Given the description of an element on the screen output the (x, y) to click on. 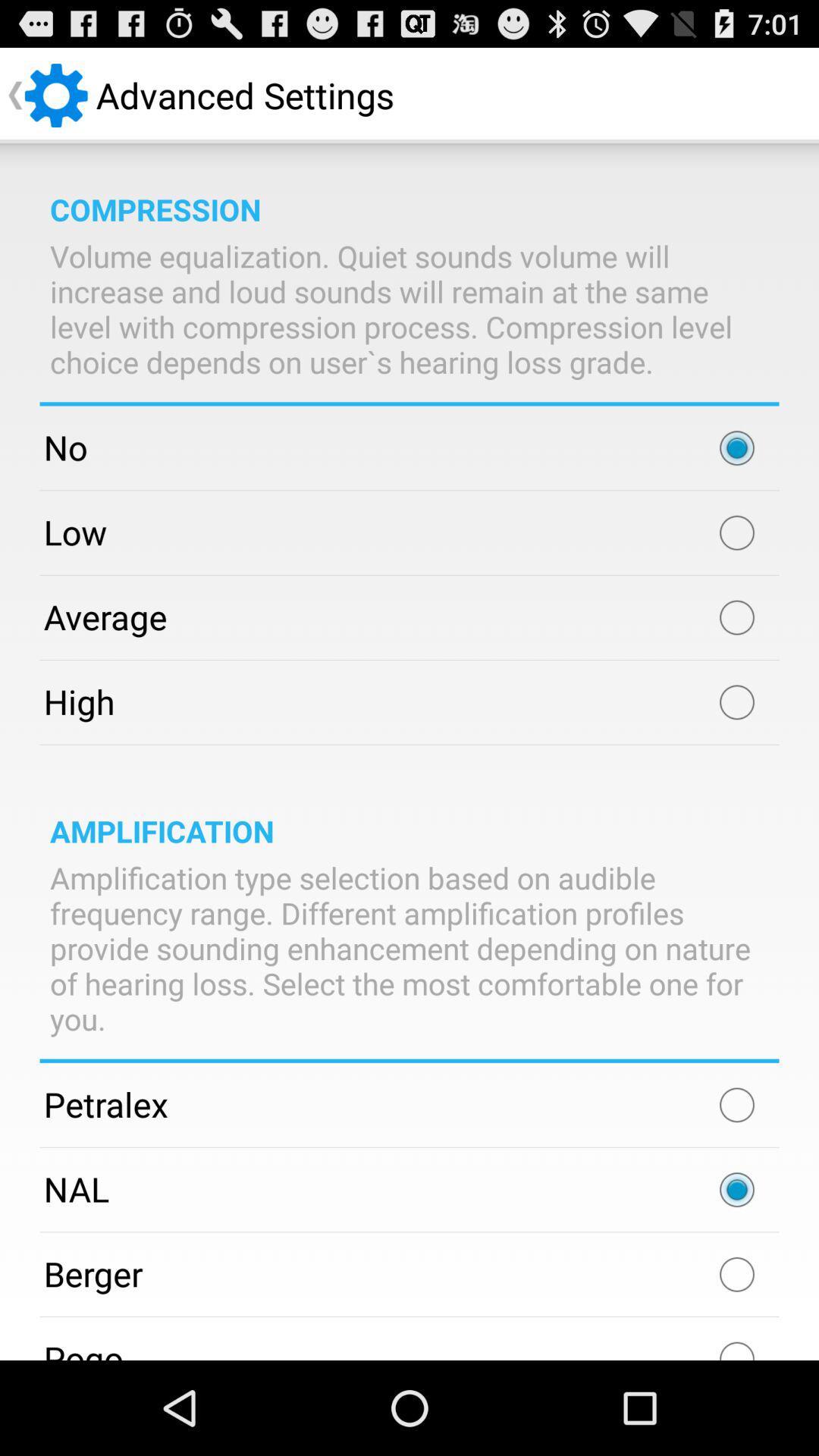
select petralex (736, 1104)
